Given the description of an element on the screen output the (x, y) to click on. 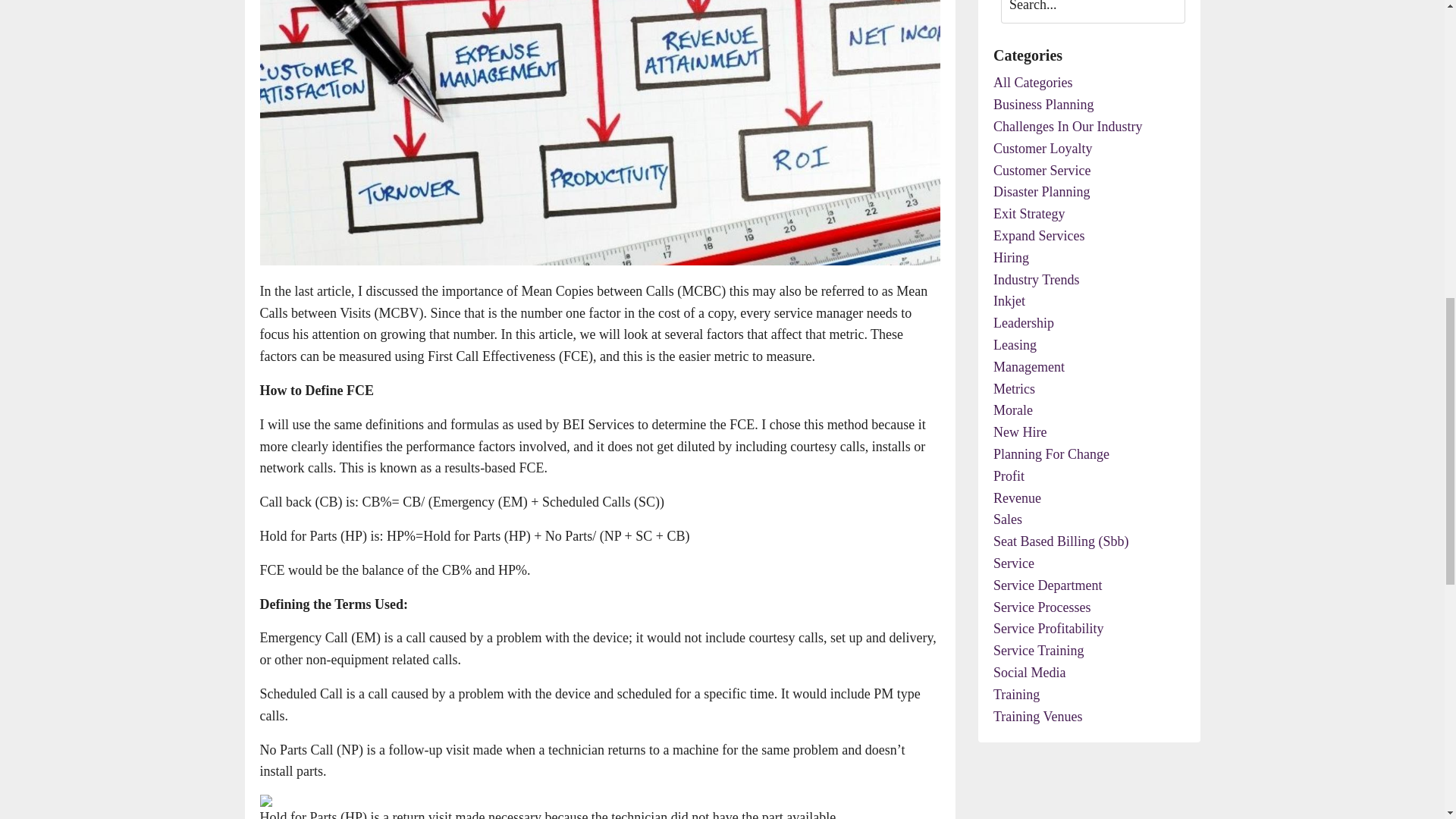
Revenue (1088, 498)
Exit Strategy (1088, 214)
Morale (1088, 410)
Planning For Change (1088, 454)
Industry Trends (1088, 280)
Profit (1088, 476)
Management (1088, 367)
All Categories (1088, 83)
Business Planning (1088, 105)
Hiring (1088, 258)
